Given the description of an element on the screen output the (x, y) to click on. 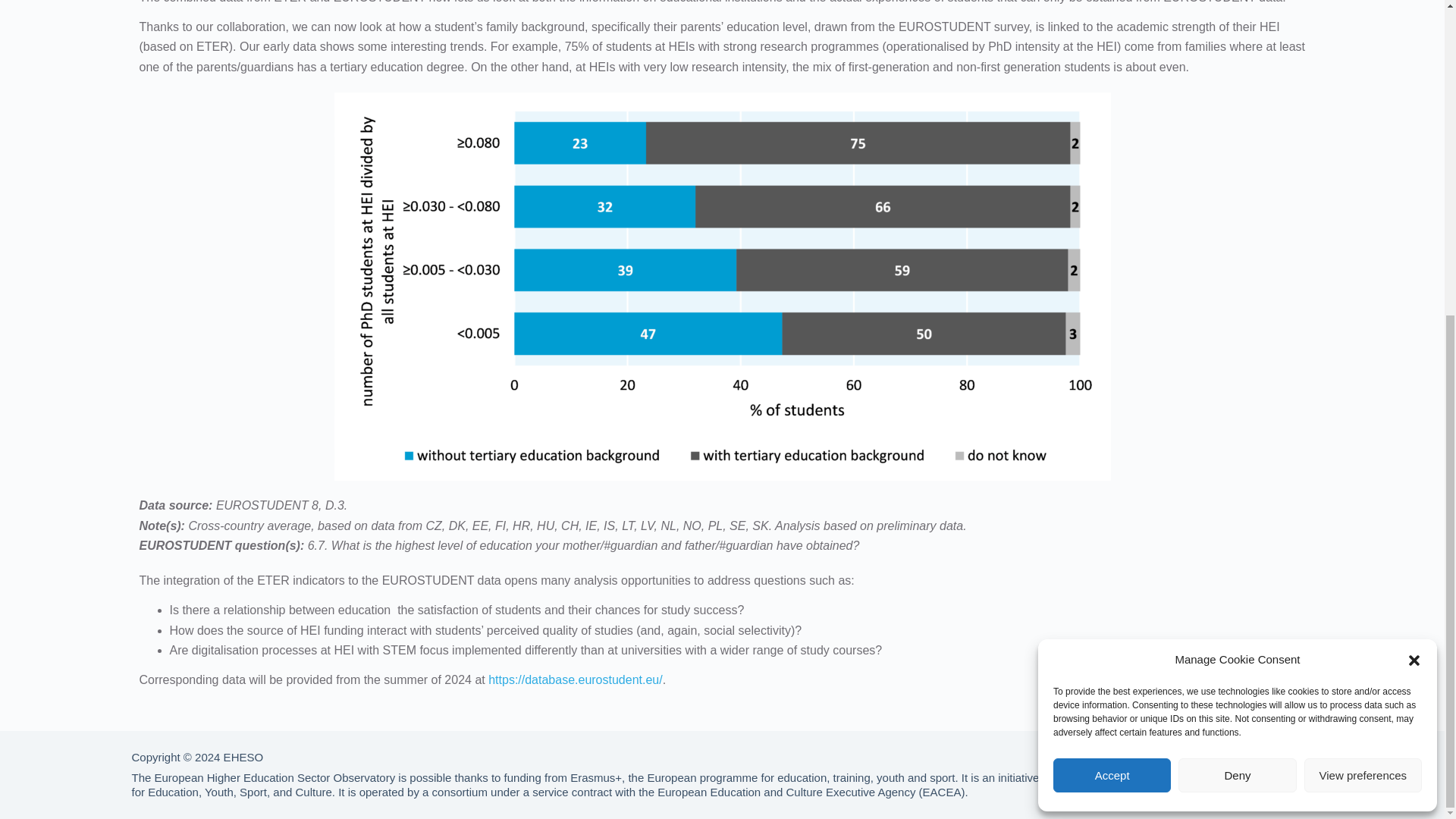
Deny (1236, 270)
Accept (1111, 270)
View preferences (1363, 270)
